Given the description of an element on the screen output the (x, y) to click on. 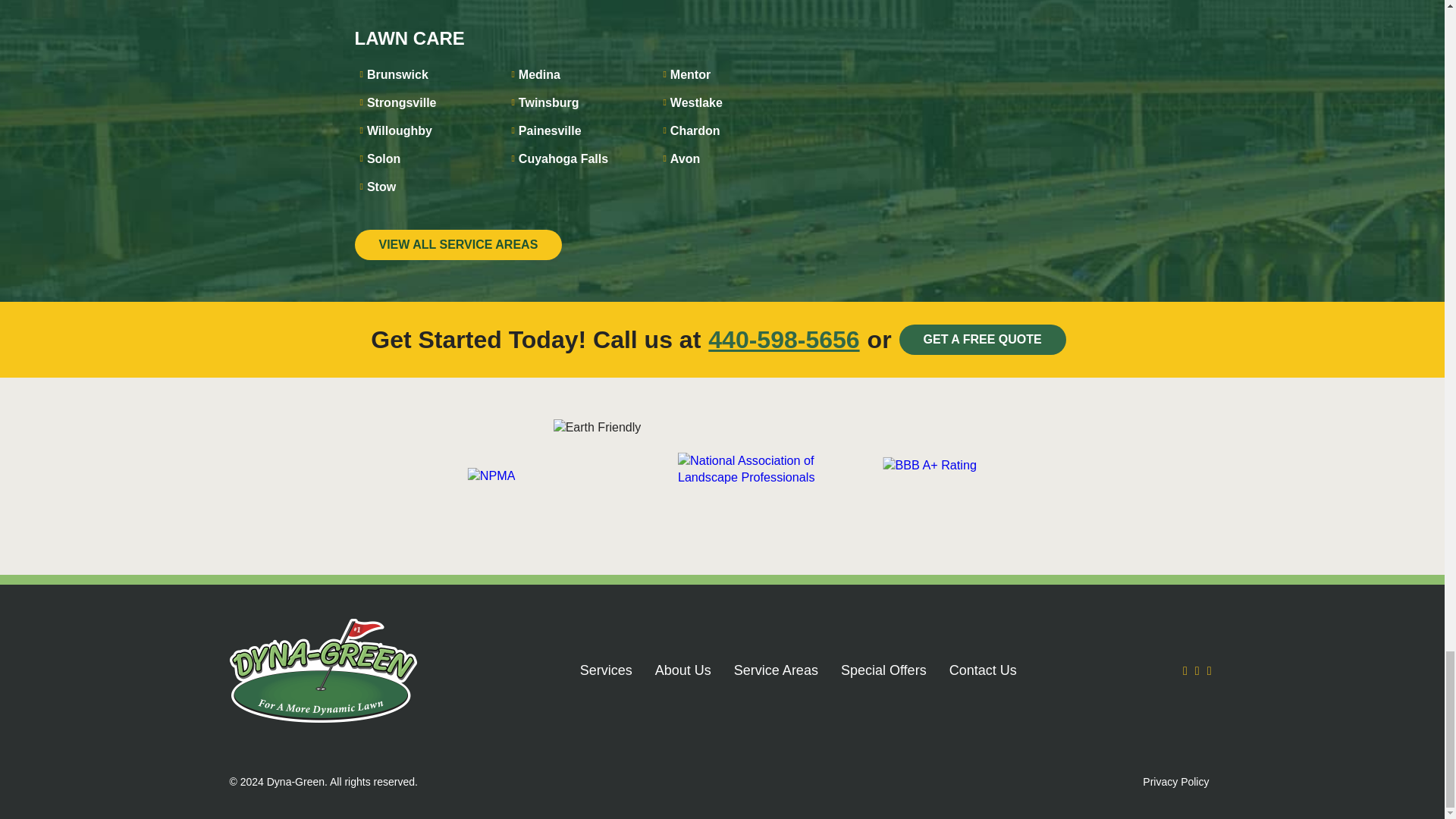
Special Offers (883, 670)
About Us (683, 670)
Contact Us (982, 670)
Service Areas (775, 670)
Services (605, 670)
Privacy Policy (1175, 782)
